Given the description of an element on the screen output the (x, y) to click on. 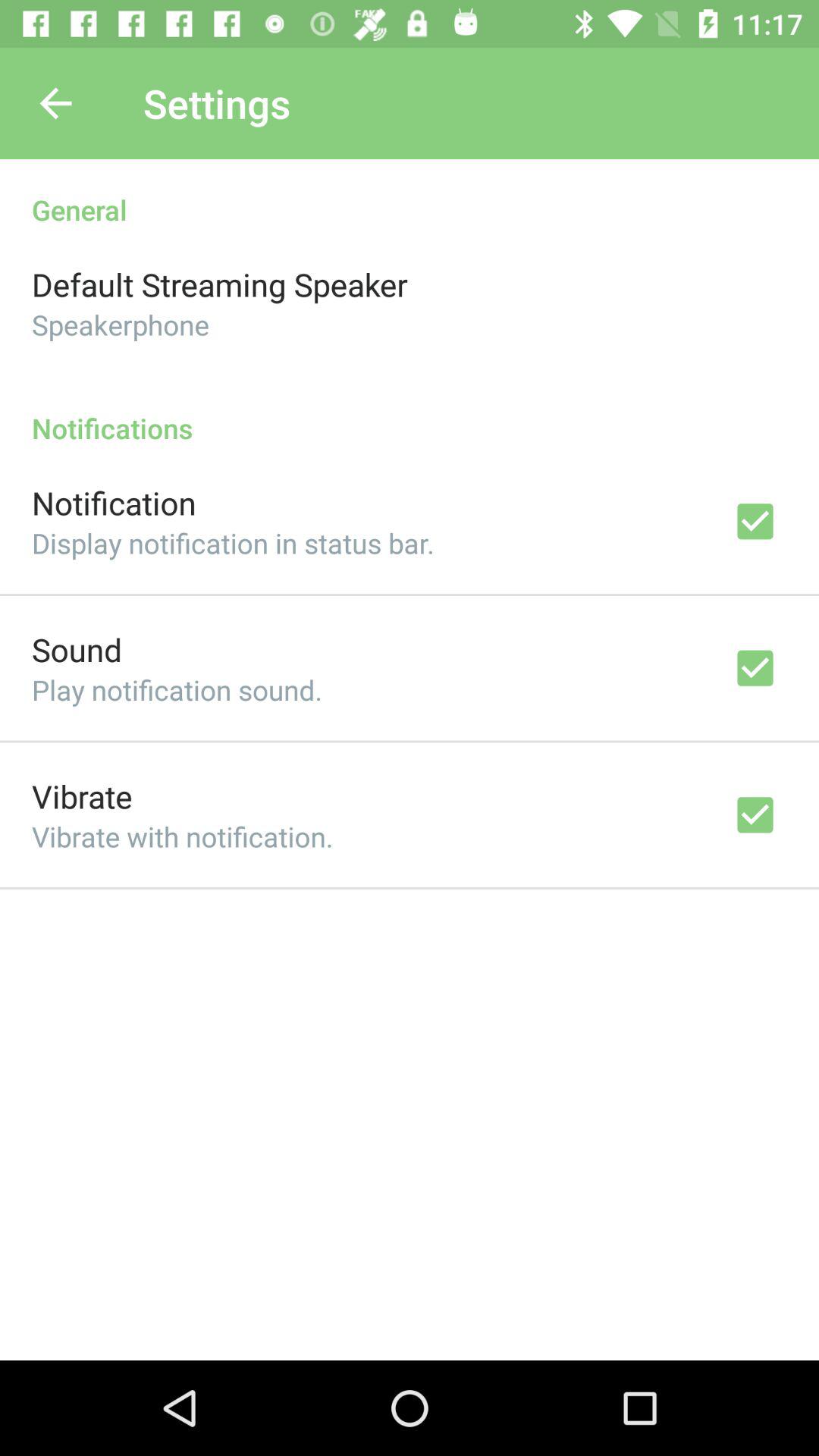
scroll to the notifications item (409, 412)
